Given the description of an element on the screen output the (x, y) to click on. 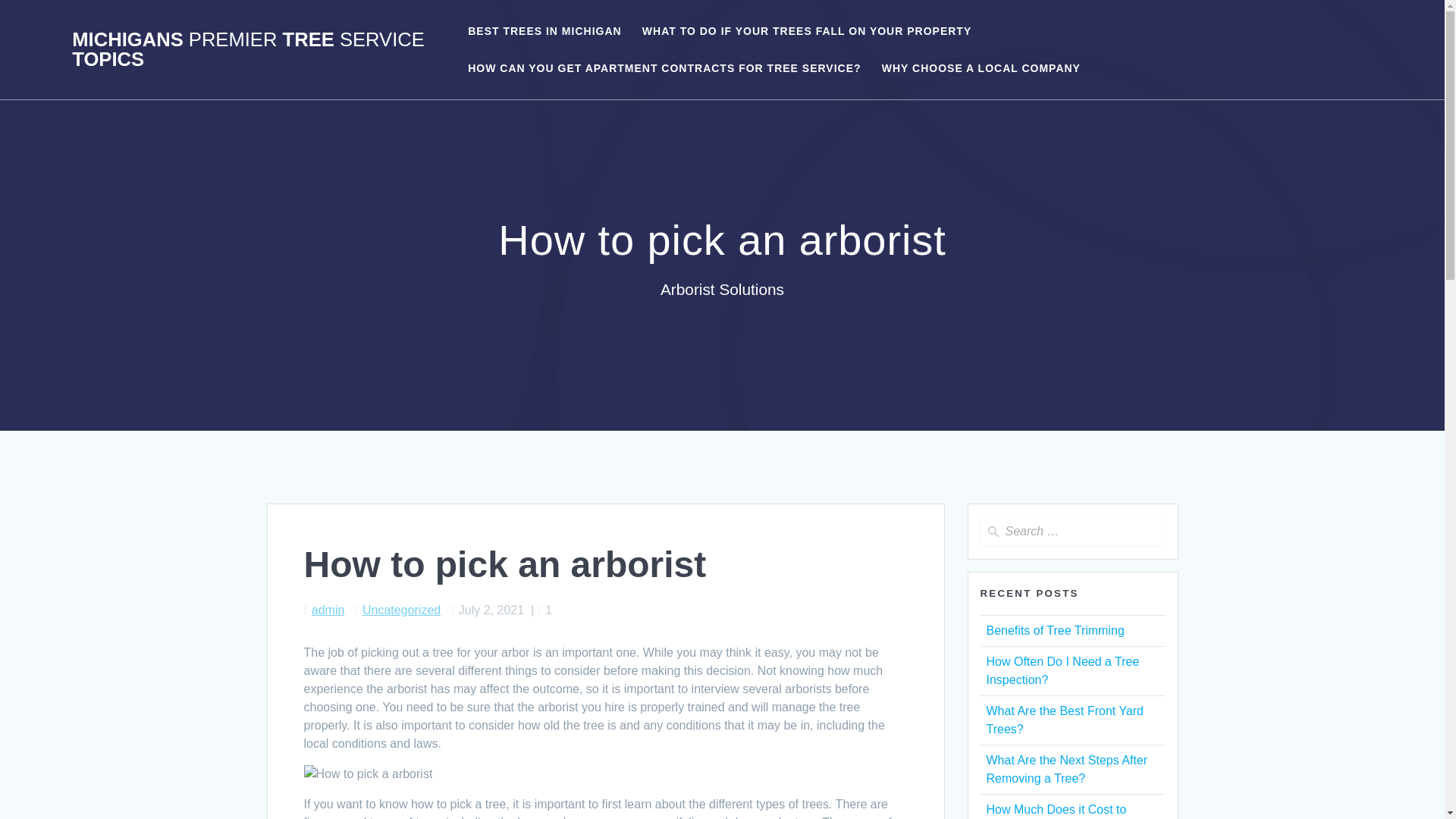
What Are the Next Steps After Removing a Tree? (1066, 768)
HOW CAN YOU GET APARTMENT CONTRACTS FOR TREE SERVICE? (663, 67)
What Are the Best Front Yard Trees? (1063, 719)
Benefits of Tree Trimming (1054, 630)
Posts by admin (328, 609)
BEST TREES IN MICHIGAN (544, 30)
admin (328, 609)
MICHIGANS PREMIER TREE SERVICE TOPICS (258, 49)
WHAT TO DO IF YOUR TREES FALL ON YOUR PROPERTY (806, 30)
WHY CHOOSE A LOCAL COMPANY (981, 67)
Uncategorized (401, 609)
How Much Does it Cost to Remove a Tree? (1055, 811)
How Often Do I Need a Tree Inspection? (1061, 670)
